Given the description of an element on the screen output the (x, y) to click on. 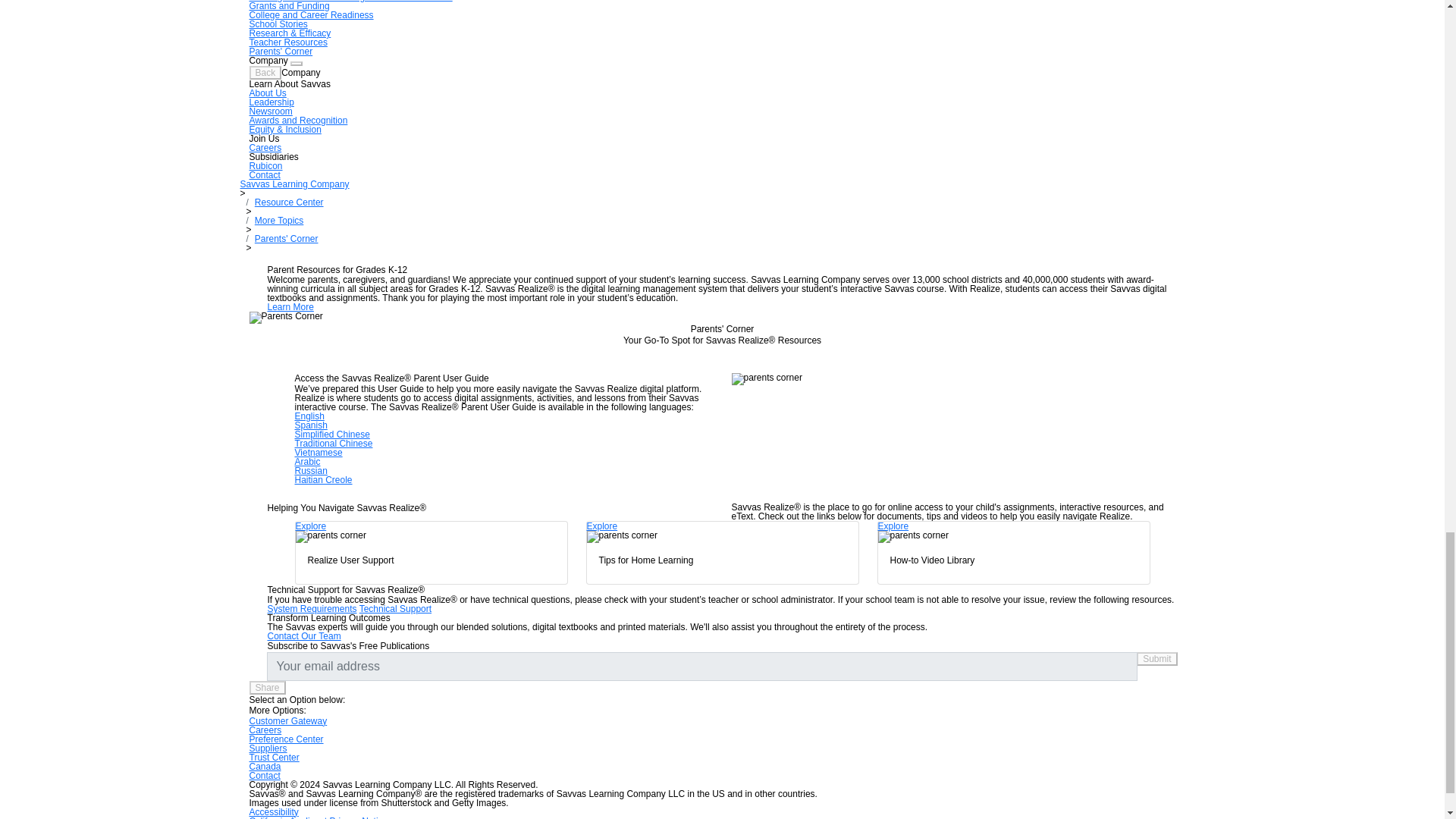
Suppliers (267, 747)
Preference Center (285, 738)
Careers (264, 729)
Trust Center (273, 757)
more topics (278, 220)
Home (294, 184)
resource center (288, 202)
parents corner (286, 238)
Learn More (289, 307)
Customer Gateway (287, 720)
